Given the description of an element on the screen output the (x, y) to click on. 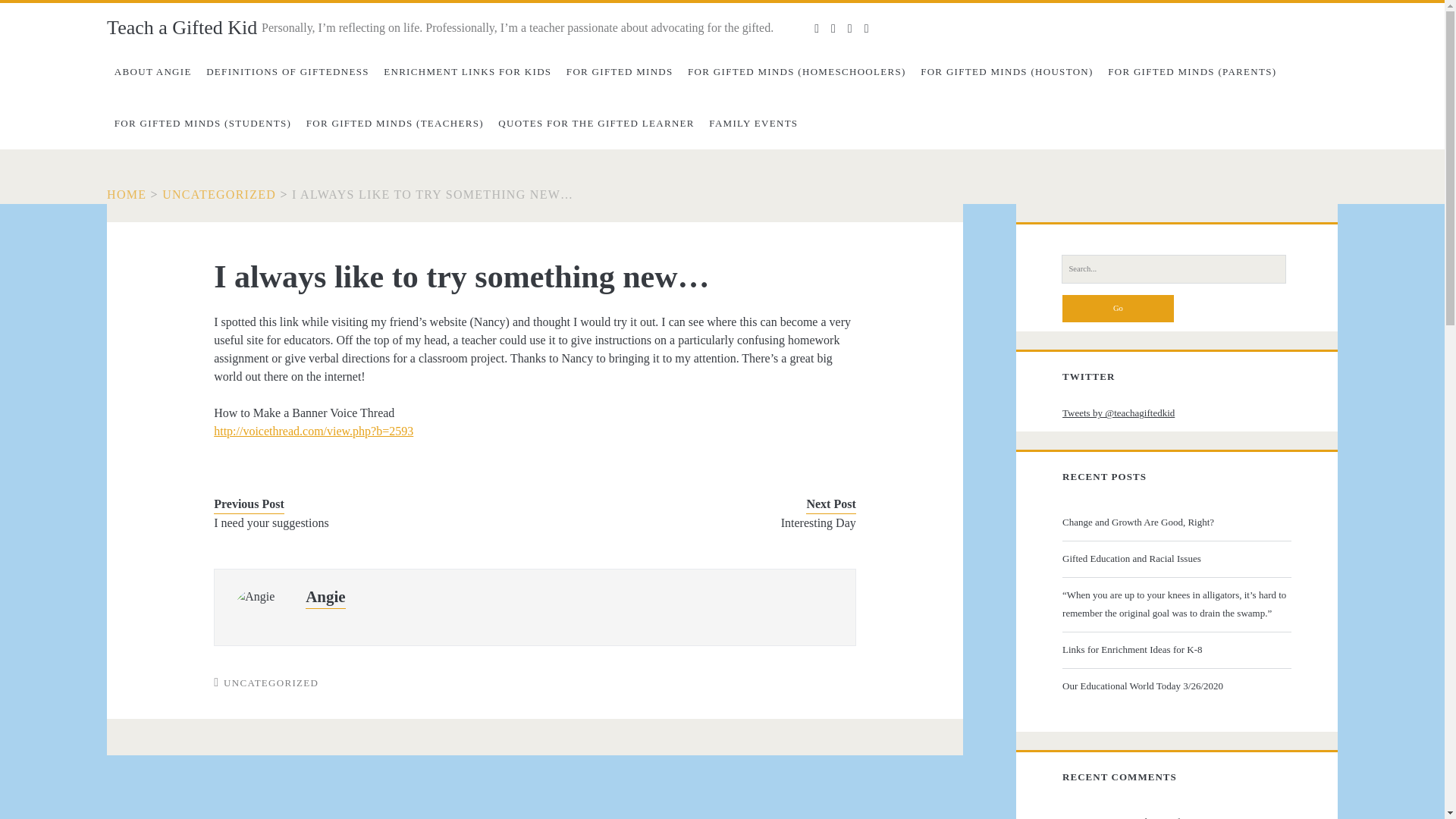
I need your suggestions (361, 523)
Go (1117, 308)
Search for: (1173, 268)
Home (126, 194)
DEFINITIONS OF GIFTEDNESS (286, 71)
Go (1117, 308)
View all posts in Uncategorized (271, 682)
Interesting Day (708, 523)
FOR GIFTED MINDS (619, 71)
Links for Enrichment Ideas for K-8 (1174, 649)
